Given the description of an element on the screen output the (x, y) to click on. 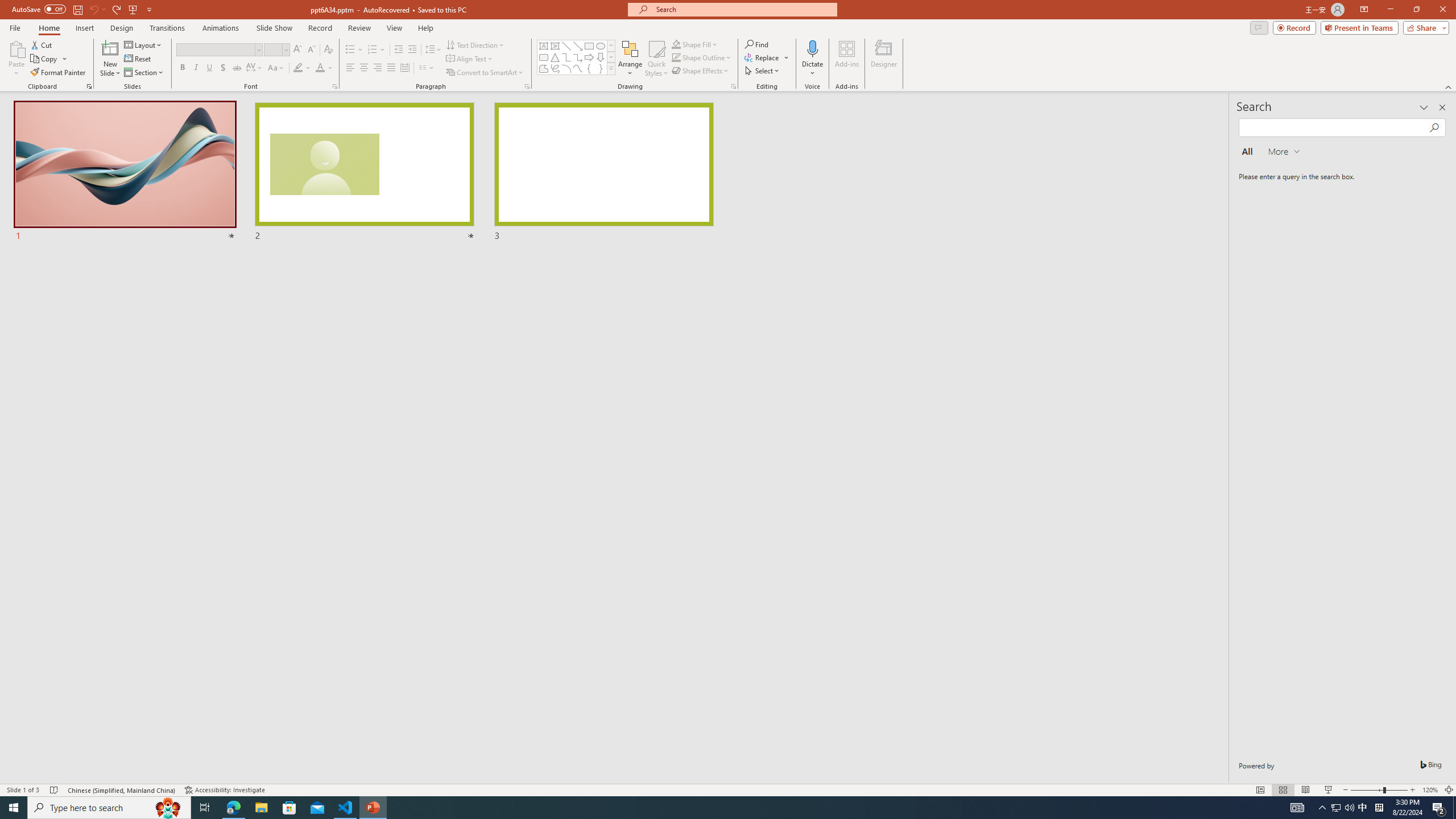
Shape Effects (700, 69)
